Given the description of an element on the screen output the (x, y) to click on. 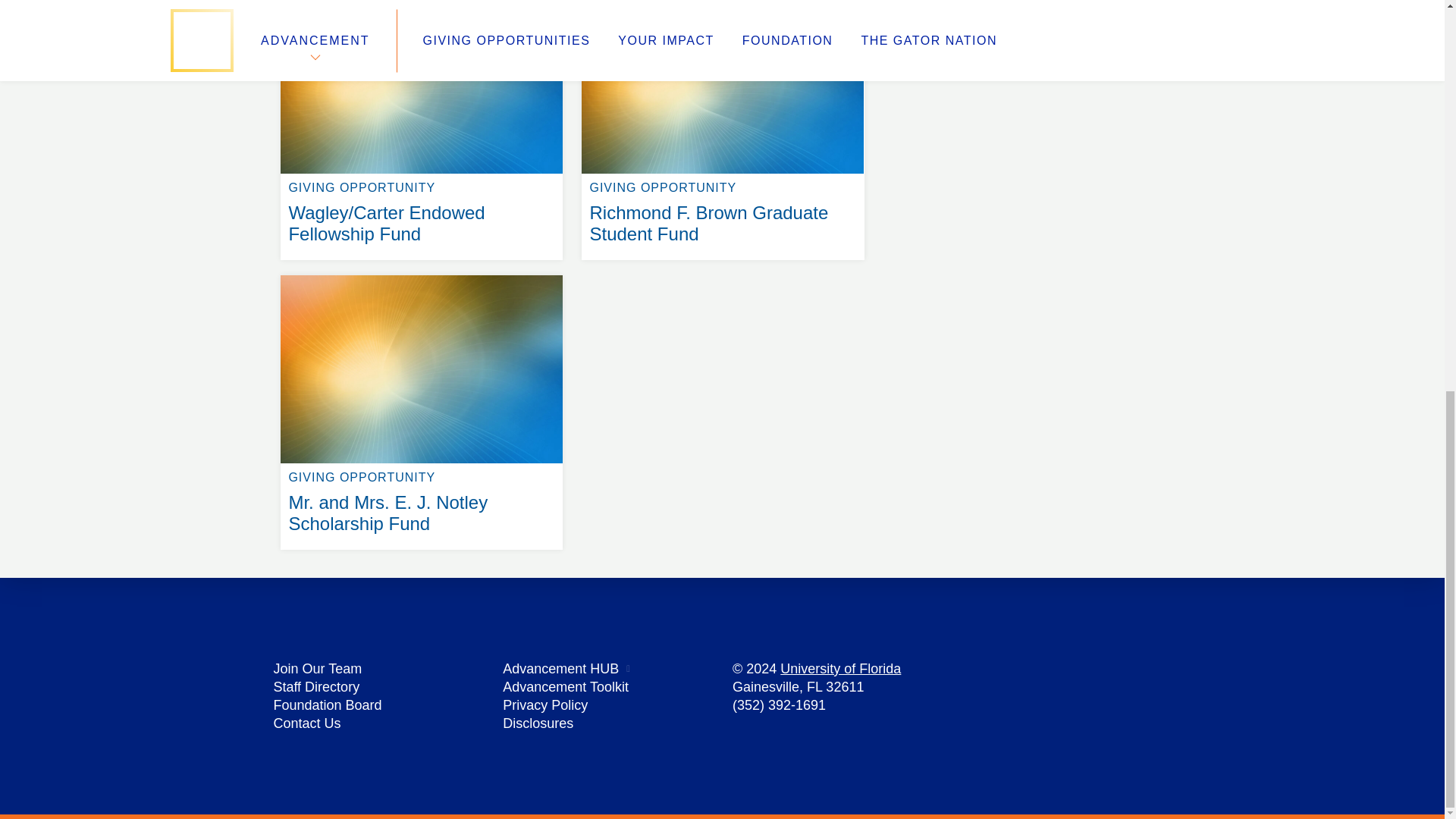
Staff Directory (316, 686)
University of Florida (840, 668)
Privacy Policy (545, 704)
Disclosures (537, 723)
Advancement Toolkit (565, 686)
Contact Us (306, 723)
Foundation Board (327, 704)
Join Our Team (317, 668)
Advancement HUB (560, 668)
